Given the description of an element on the screen output the (x, y) to click on. 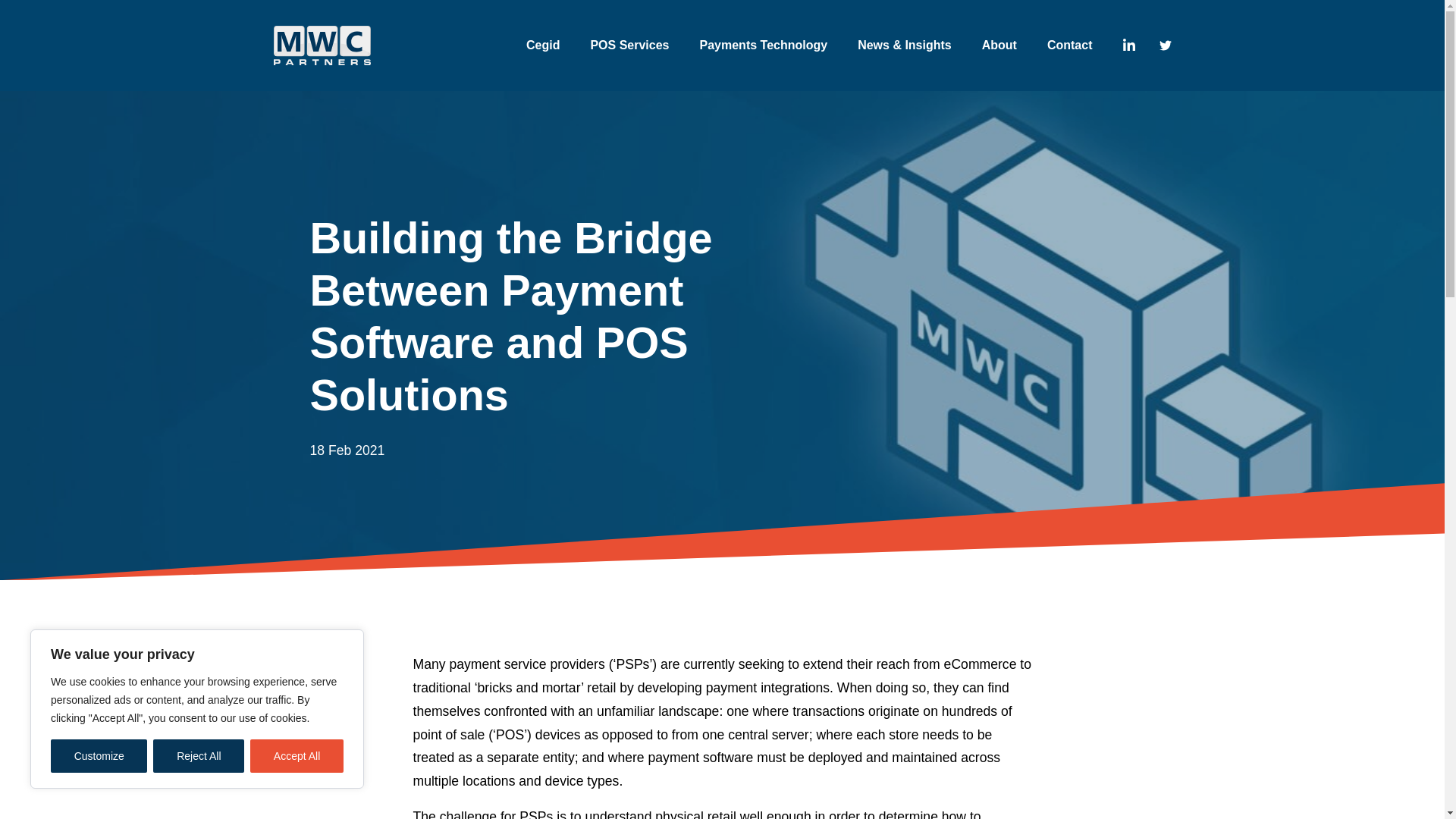
Cegid (542, 45)
Skip to content (30, 18)
Customize (98, 756)
Reject All (198, 756)
Accept All (296, 756)
POS Services (628, 45)
Payments Technology (764, 45)
